Given the description of an element on the screen output the (x, y) to click on. 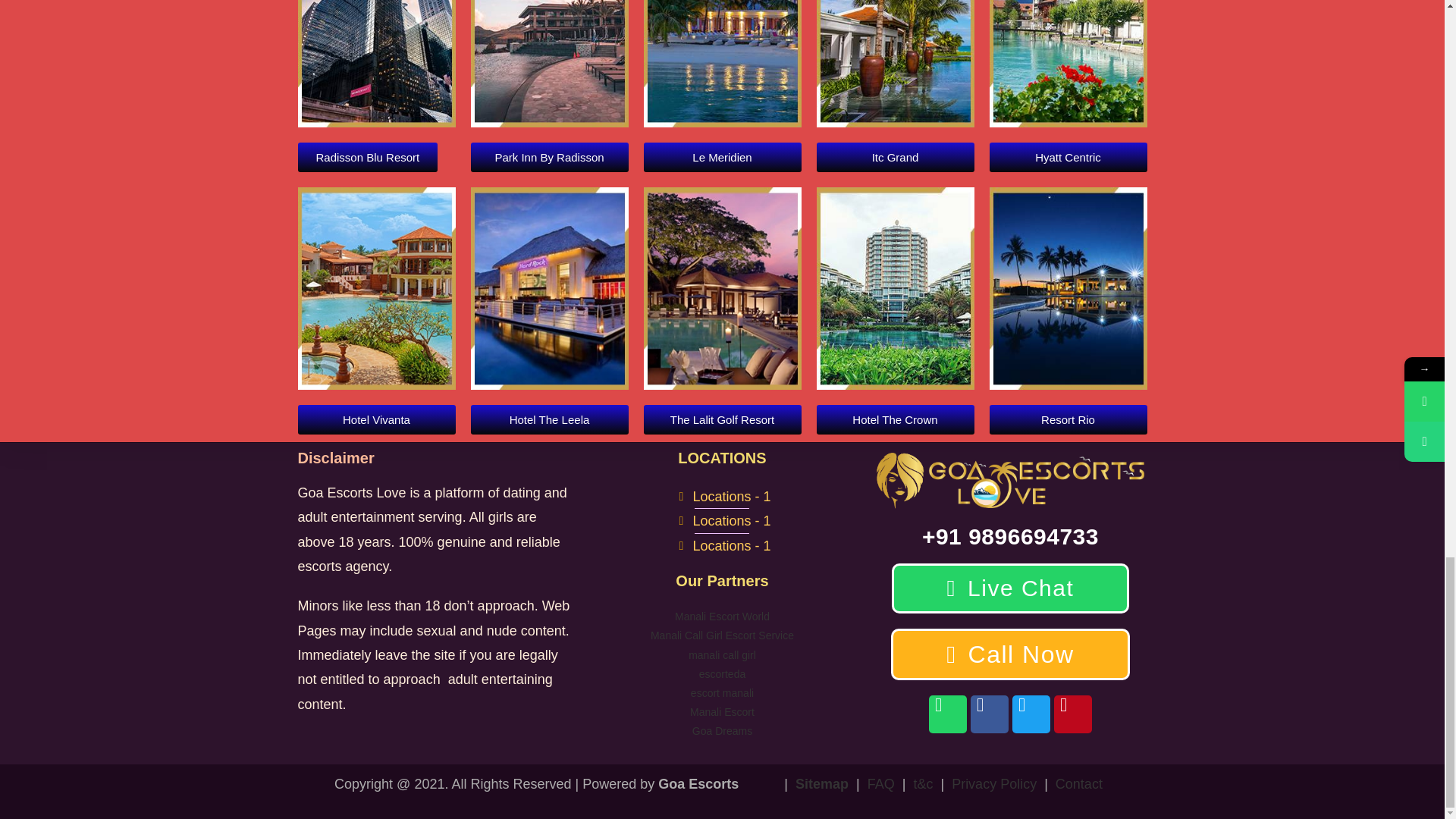
Hotel Vivanta (375, 419)
Manali Escort World (722, 616)
Manali Escort (722, 711)
Park Inn By Radisson (548, 156)
The Lalit Golf Resort (721, 419)
escorteda (721, 674)
escort manali (722, 693)
Itc Grand (894, 156)
Hotel The Leela (548, 419)
Radisson Blu Resort (367, 156)
Le Meridien (721, 156)
Resort Rio (1067, 419)
Manali Call Girl Escort Service (721, 635)
Hotel The Crown (894, 419)
manali call girl (721, 654)
